Given the description of an element on the screen output the (x, y) to click on. 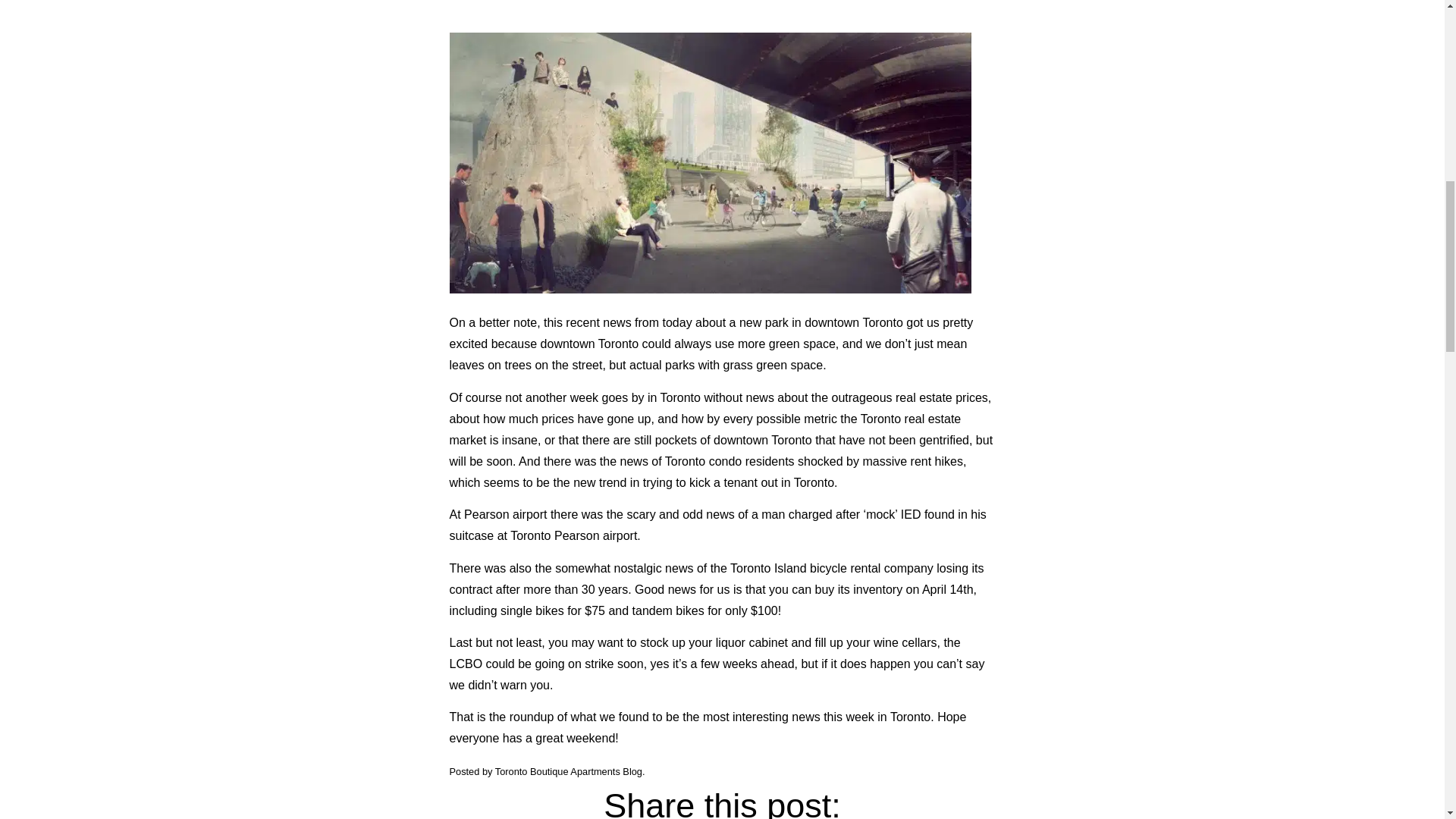
Toronto Island bicycle rental company losing its contract (716, 578)
Toronto condo residents shocked by massive rent hikes (813, 461)
you can buy its inventory on April 14th (871, 588)
Toronto Boutique Apartments Blog (568, 771)
how much prices have gone up (566, 418)
the LCBO could be going on strike soon (703, 653)
pockets of downtown Toronto that have not been gentrified (812, 440)
new park in downtown Toronto (820, 322)
by every possible metric the Toronto real estate market (704, 429)
